Given the description of an element on the screen output the (x, y) to click on. 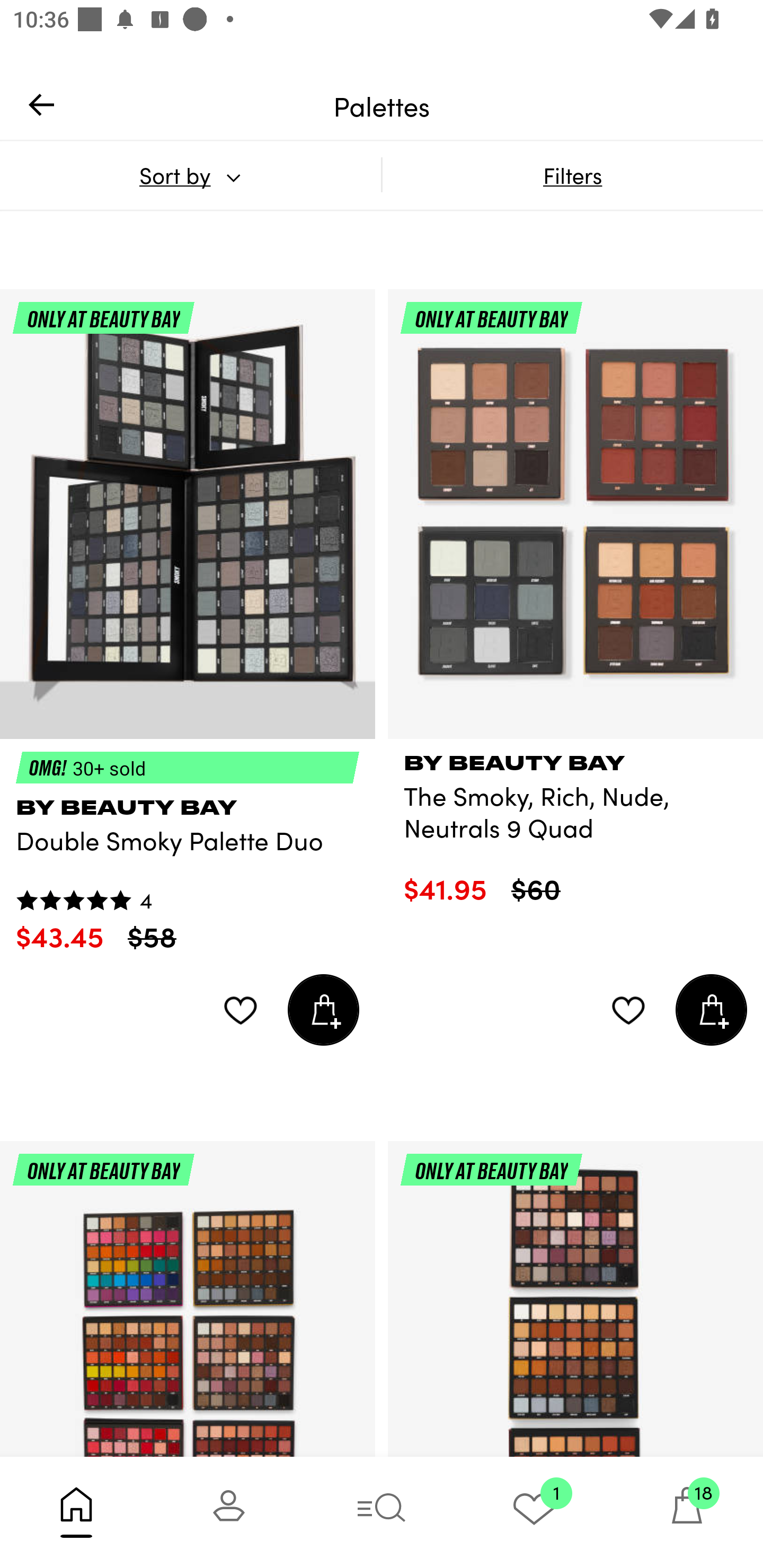
Sort by (190, 174)
Filters (572, 174)
1 (533, 1512)
18 (686, 1512)
